Given the description of an element on the screen output the (x, y) to click on. 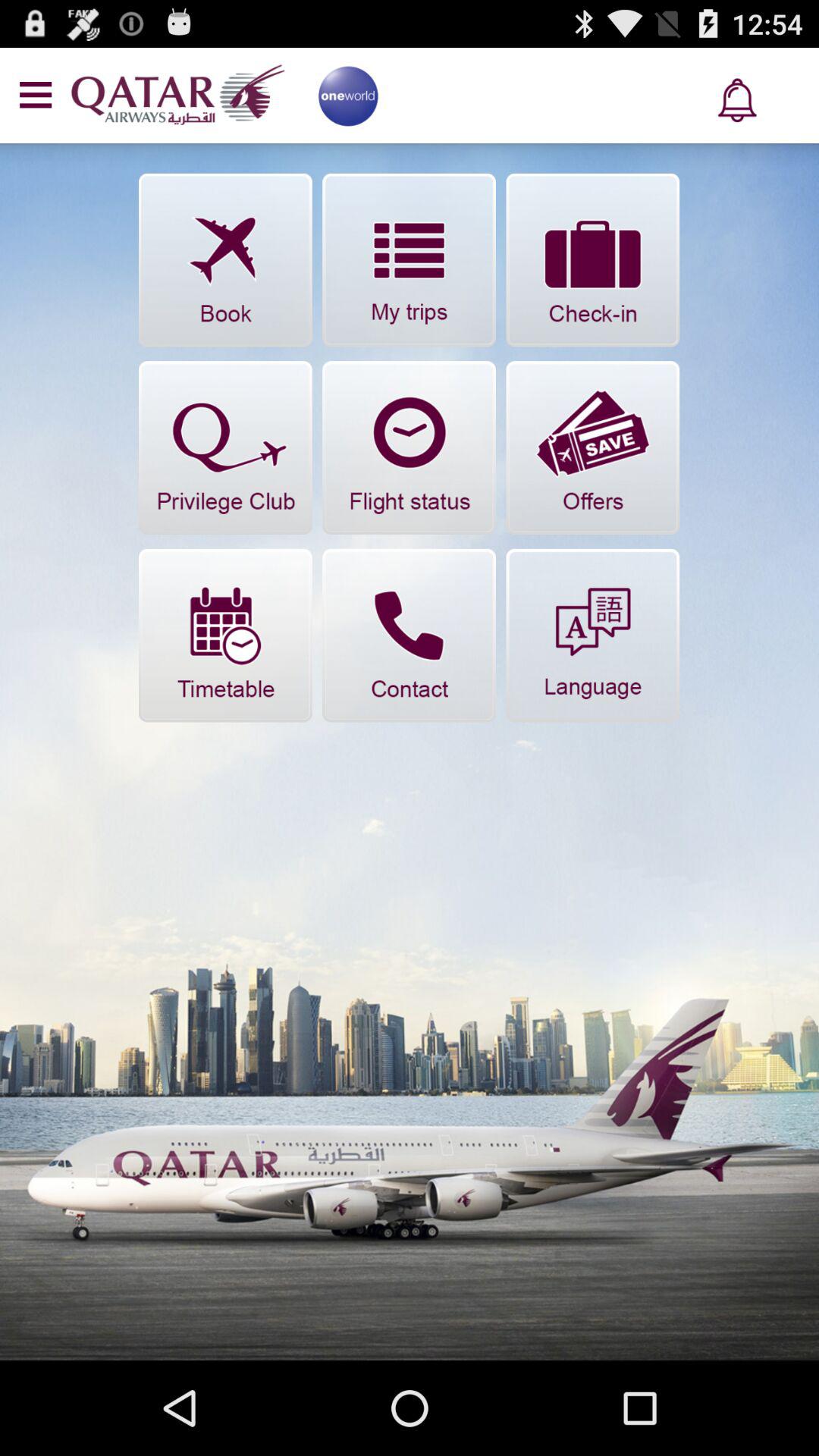
ateno para o icone de linguage (592, 635)
